Given the description of an element on the screen output the (x, y) to click on. 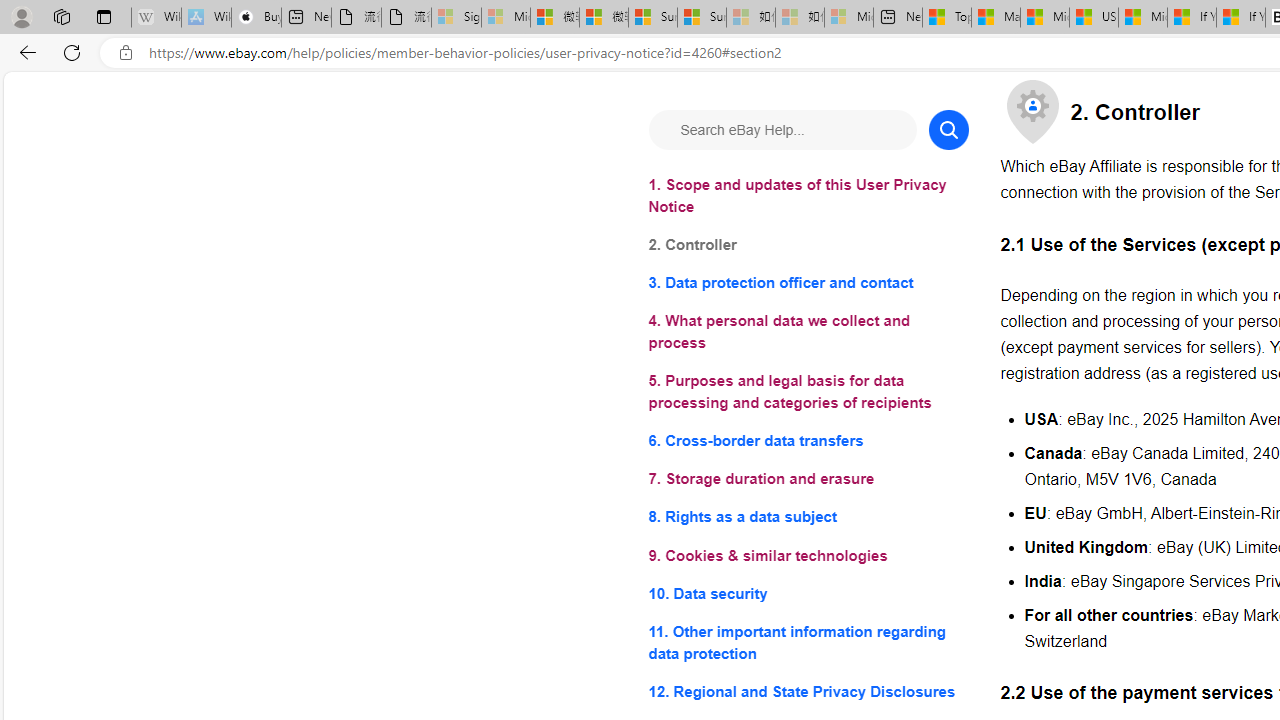
Top Stories - MSN (946, 17)
2. Controller (807, 245)
11. Other important information regarding data protection (807, 642)
7. Storage duration and erasure (807, 479)
7. Storage duration and erasure (807, 479)
Buy iPad - Apple (256, 17)
10. Data security (807, 592)
12. Regional and State Privacy Disclosures (807, 690)
3. Data protection officer and contact (807, 283)
US Heat Deaths Soared To Record High Last Year (1093, 17)
Microsoft account | Account Checkup - Sleeping (848, 17)
